Given the description of an element on the screen output the (x, y) to click on. 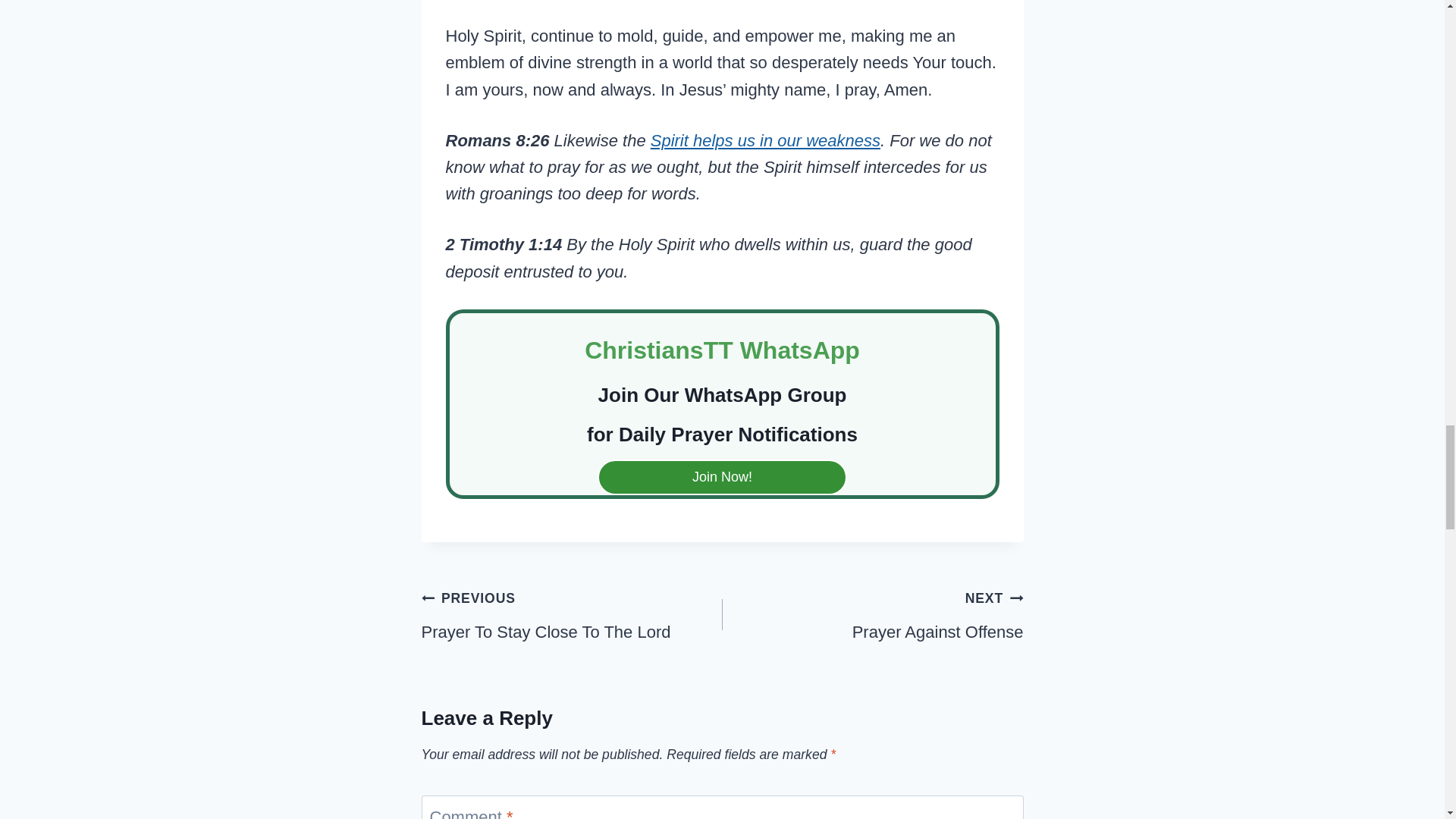
Join Now! (721, 477)
Spirit helps us in our weakness (765, 140)
Prayer When The Spirit Is Willing But The Flesh Is Weak (872, 614)
